Given the description of an element on the screen output the (x, y) to click on. 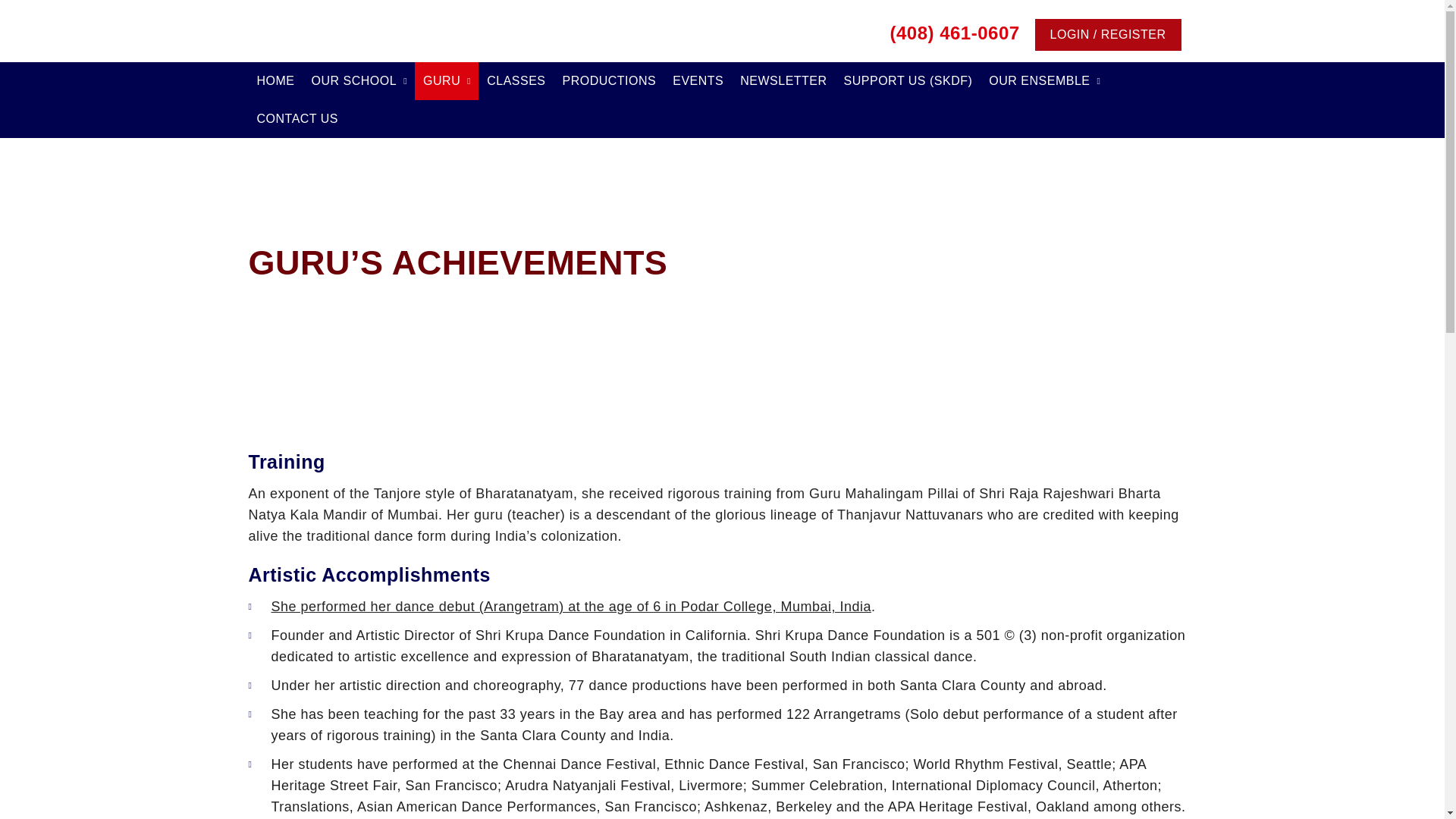
PRODUCTIONS (608, 80)
CONTACT US (297, 118)
GURU (446, 80)
CLASSES (516, 80)
OUR SCHOOL (358, 80)
NEWSLETTER (783, 80)
EVENTS (697, 80)
OUR ENSEMBLE (1043, 80)
HOME (275, 80)
